Given the description of an element on the screen output the (x, y) to click on. 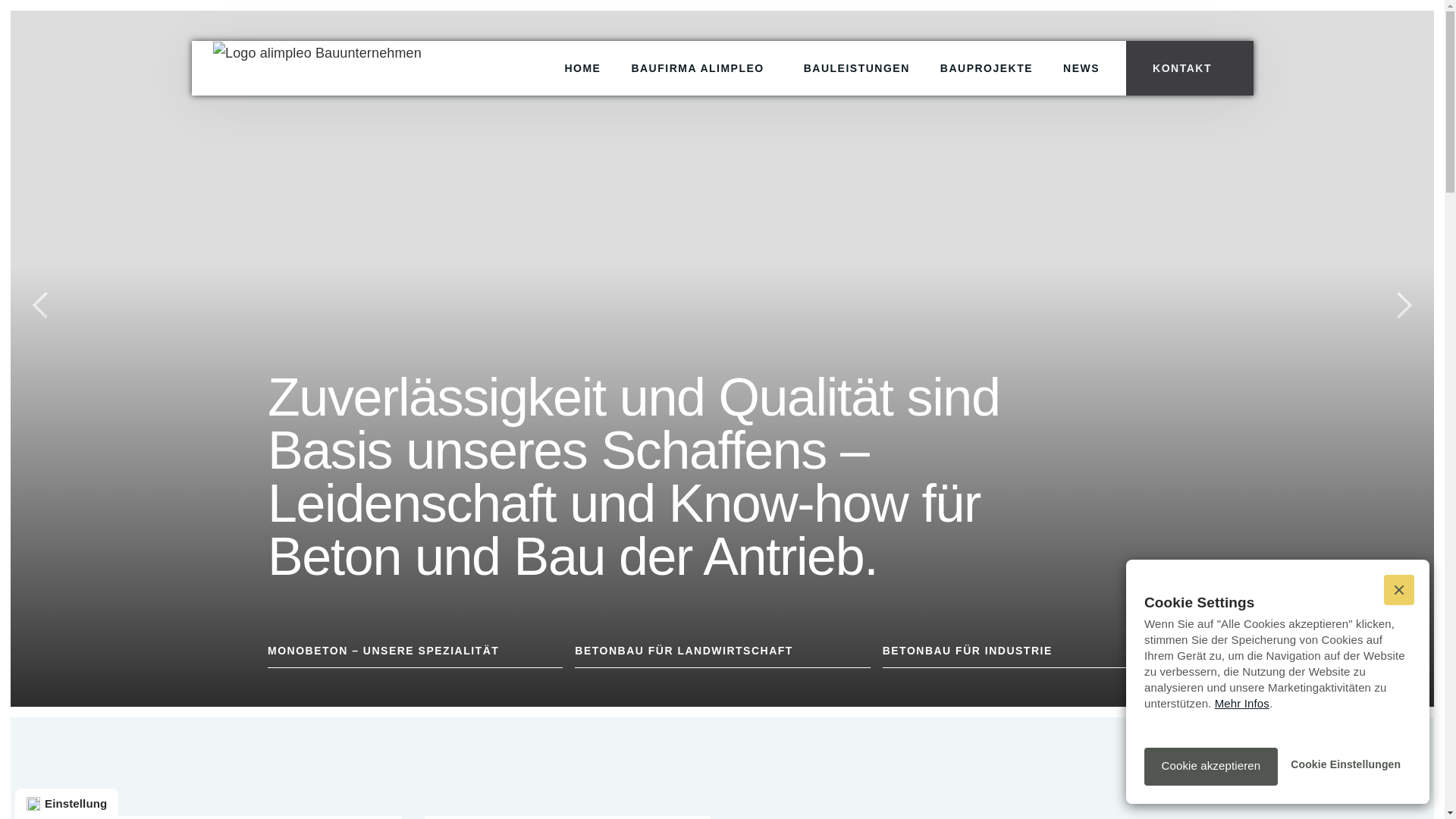
KONTAKT Element type: text (1189, 67)
BAULEISTUNGEN Element type: text (855, 67)
HOME Element type: text (582, 67)
Close Cookie Popup Element type: text (1398, 589)
BAUPROJEKTE Element type: text (985, 67)
Mehr Infos Element type: text (1241, 702)
Cookie akzeptieren Element type: text (1210, 766)
NEWS Element type: text (1081, 67)
Cookie Einstellungen Element type: text (1345, 766)
